Given the description of an element on the screen output the (x, y) to click on. 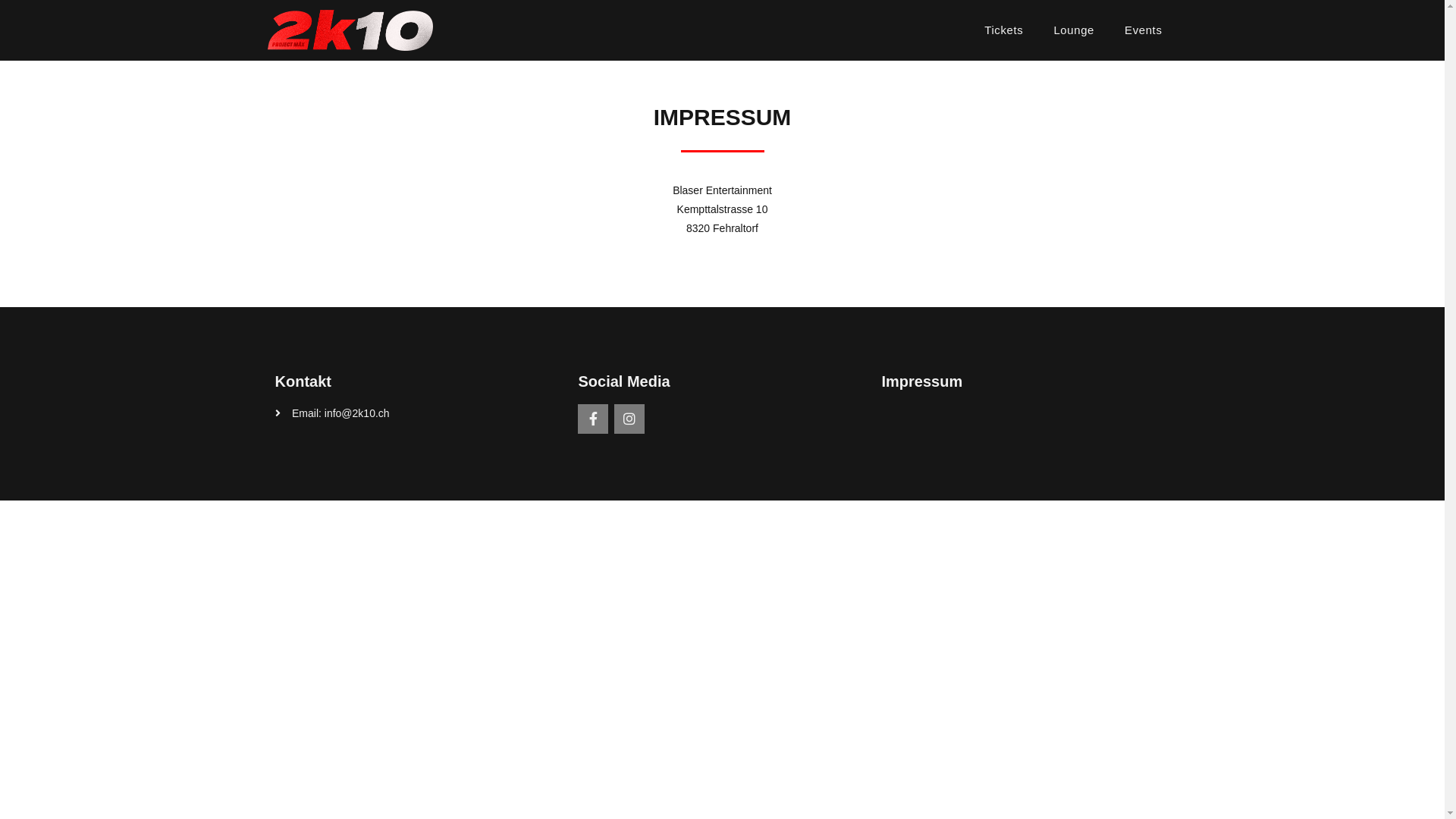
Lounge Element type: text (1073, 30)
Tickets Element type: text (1003, 30)
Impressum Element type: text (921, 381)
Events Element type: text (1142, 30)
